Given the description of an element on the screen output the (x, y) to click on. 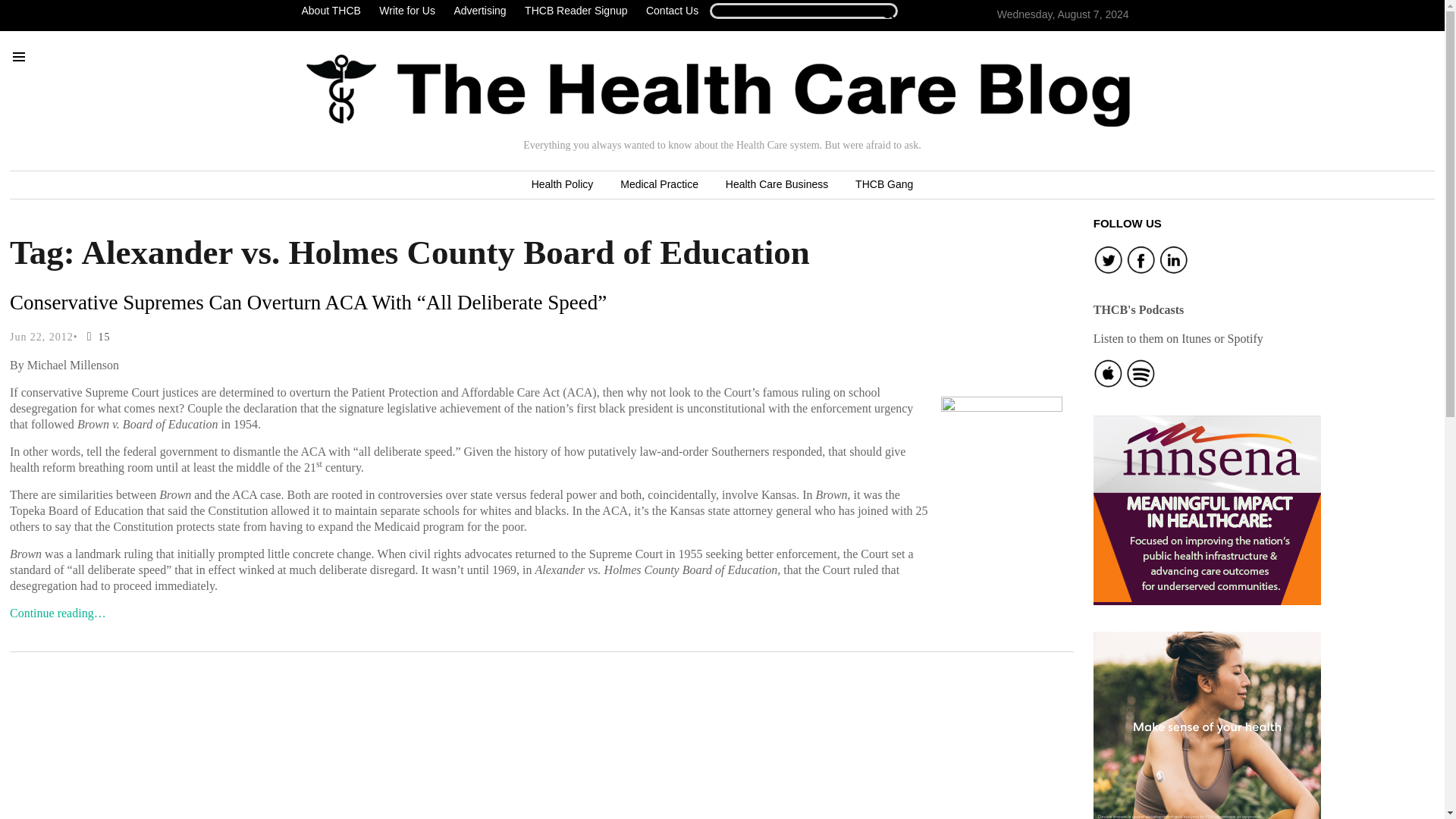
THCB Reader Signup (575, 10)
Write for Us (406, 10)
Health Care Business (776, 184)
Contact Us (672, 10)
THCB Gang (883, 184)
About THCB (334, 10)
Medical Practice (659, 184)
15 (95, 337)
Health Policy (562, 184)
Advertising (479, 10)
